Given the description of an element on the screen output the (x, y) to click on. 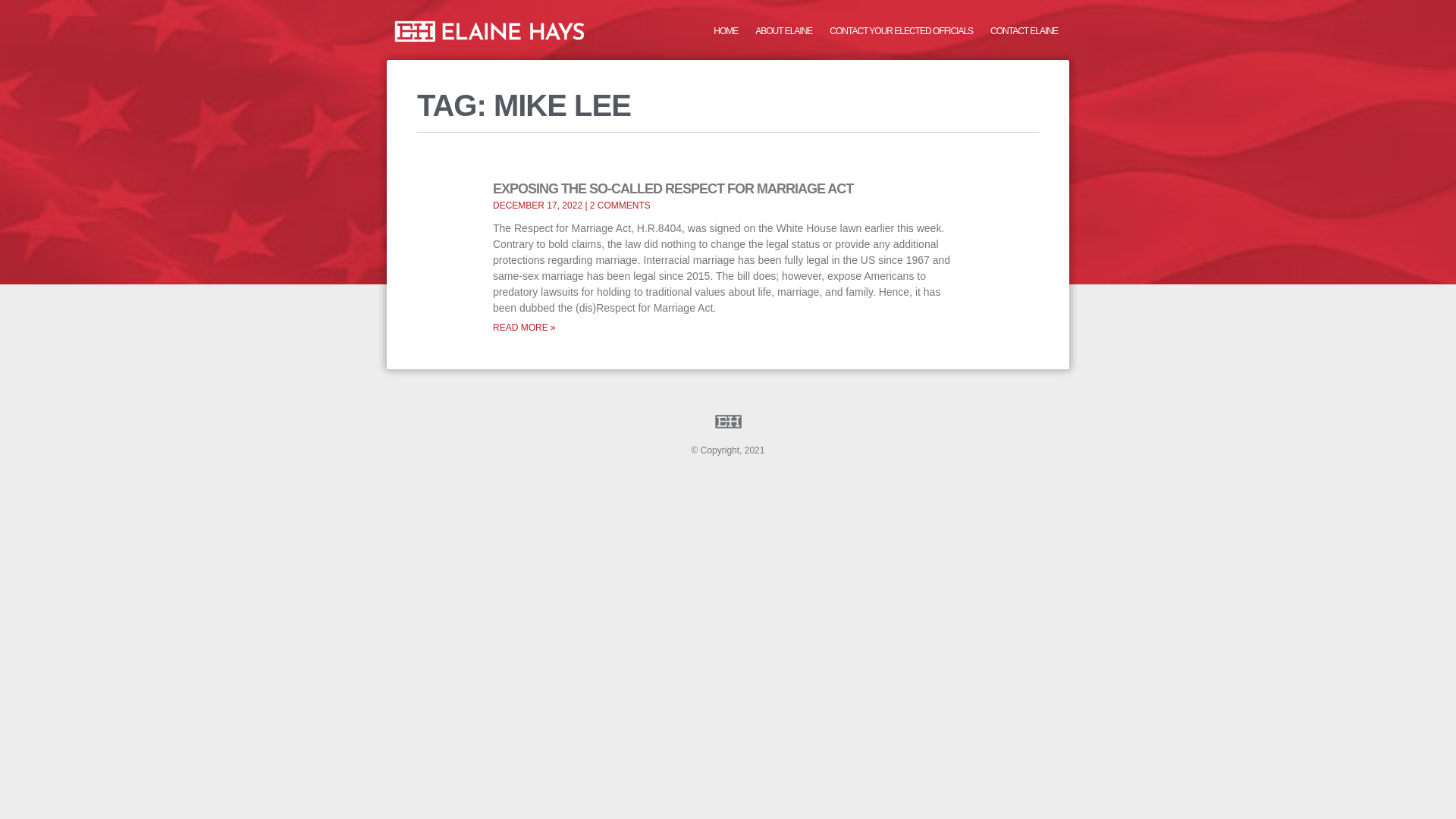
CONTACT ELAINE (1024, 30)
CONTACT YOUR ELECTED OFFICIALS (900, 30)
HOME (725, 30)
EXPOSING THE SO-CALLED RESPECT FOR MARRIAGE ACT (673, 188)
ABOUT ELAINE (783, 30)
